Given the description of an element on the screen output the (x, y) to click on. 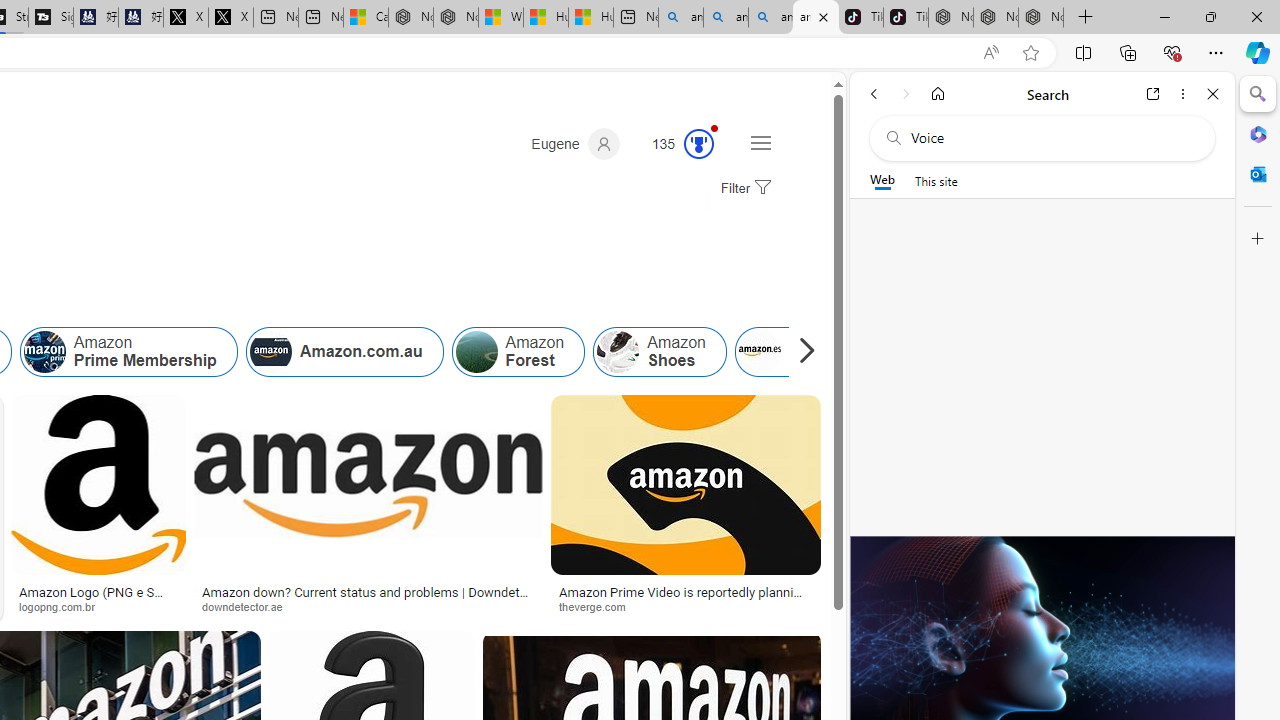
Amazon Shoes (659, 351)
Wildlife - MSN (500, 17)
Search the web (1051, 137)
Settings and quick links (760, 142)
Amazon.com.au (270, 351)
Microsoft 365 (1258, 133)
